Given the description of an element on the screen output the (x, y) to click on. 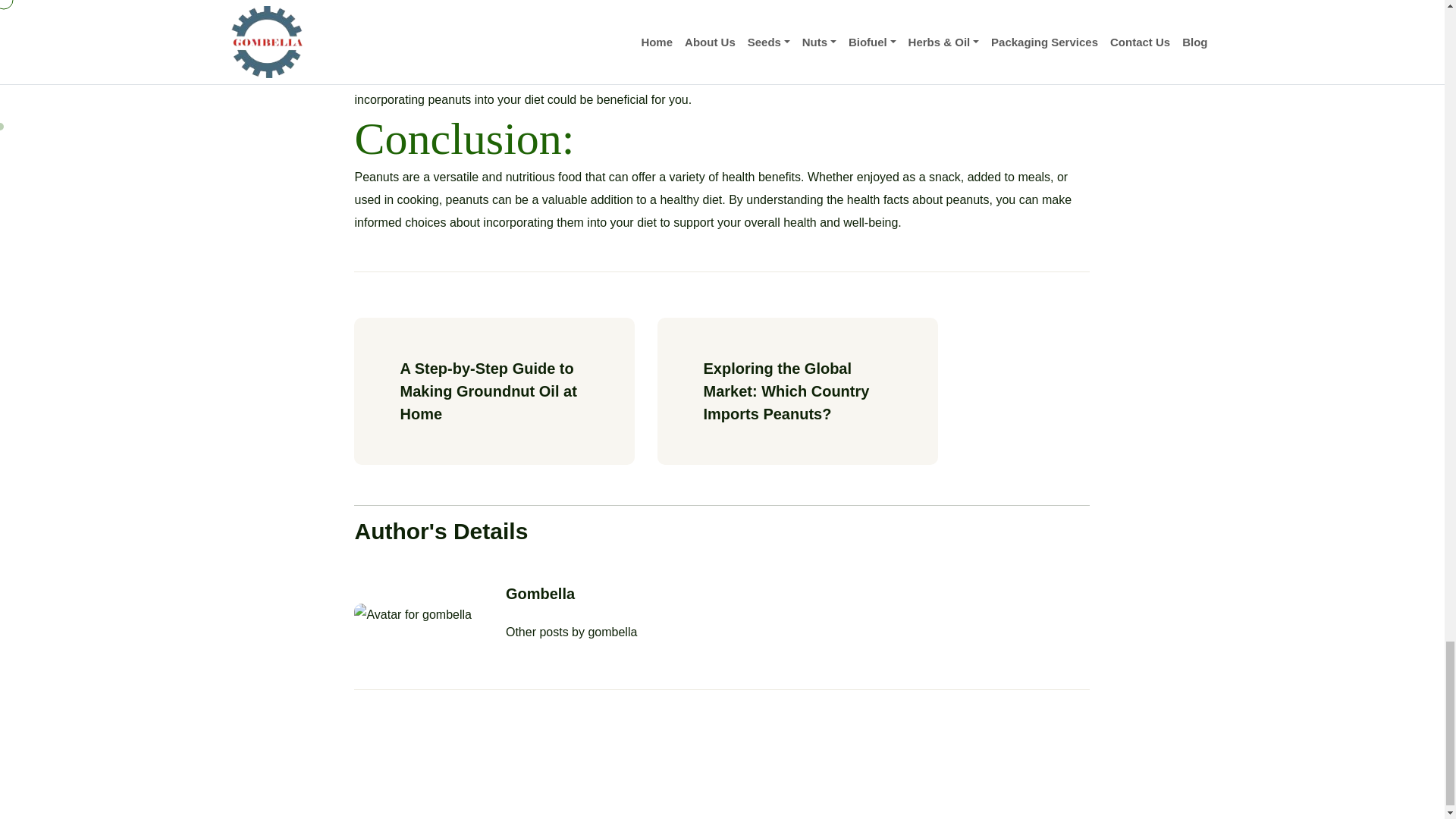
Gravatar for gombella (411, 614)
Posts by gombella (612, 631)
